Given the description of an element on the screen output the (x, y) to click on. 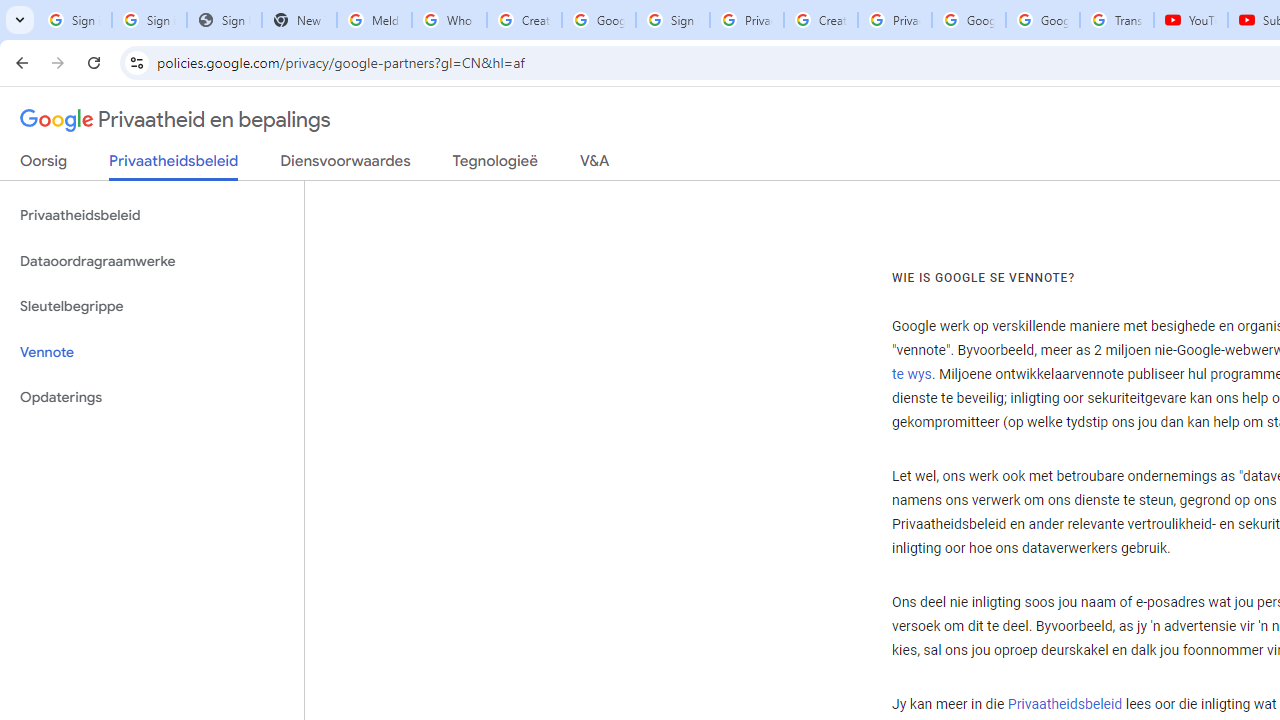
Privaatheidsbeleid (1064, 705)
Create your Google Account (523, 20)
